Given the description of an element on the screen output the (x, y) to click on. 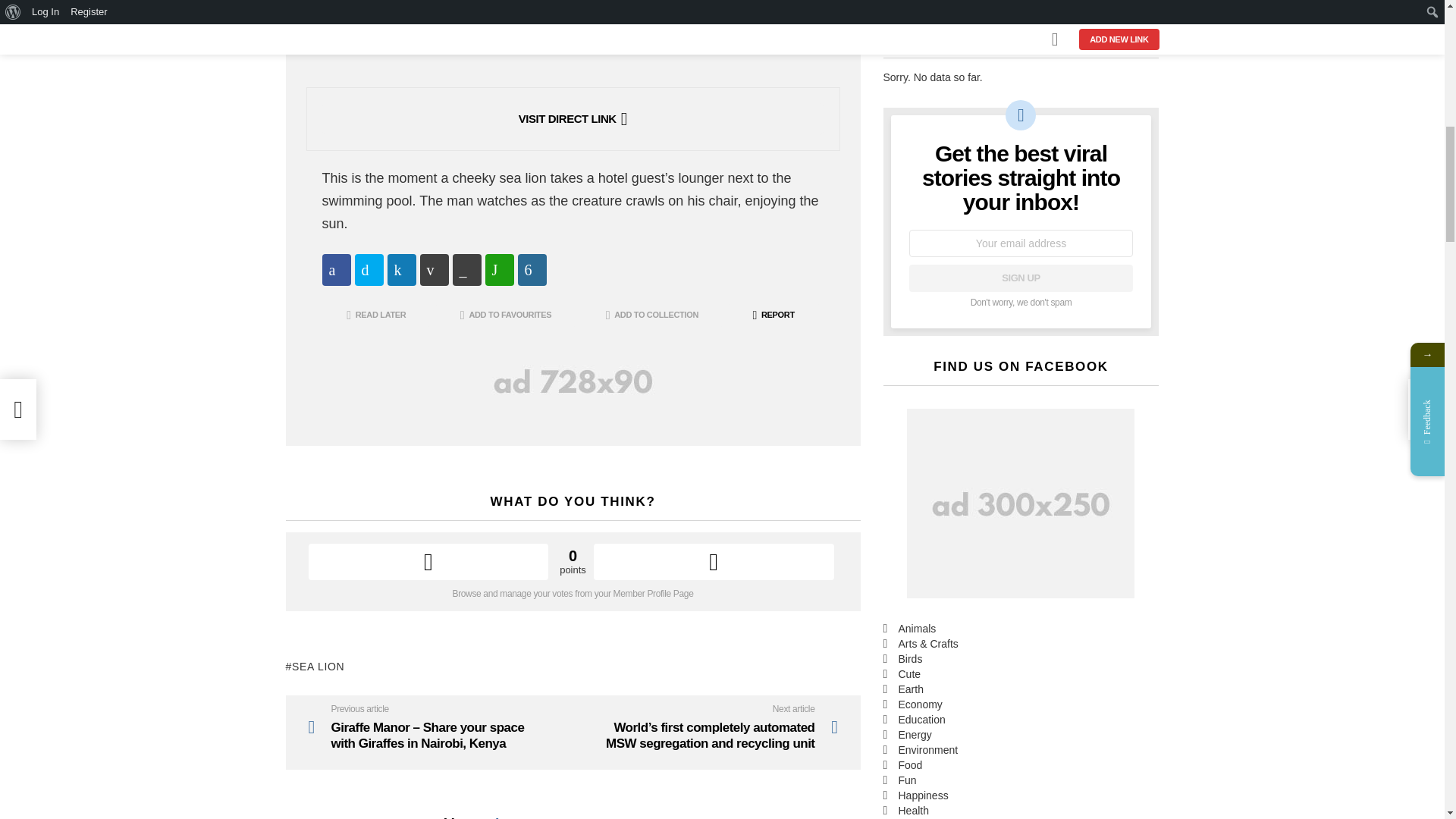
Posts by Andy (346, 46)
Share on Email (434, 269)
Share on LinkedIn (400, 269)
Share on Facebook (335, 269)
Share on Twitter (369, 269)
Sign up (1020, 277)
May 10, 2022, 12:53 am (398, 46)
